Given the description of an element on the screen output the (x, y) to click on. 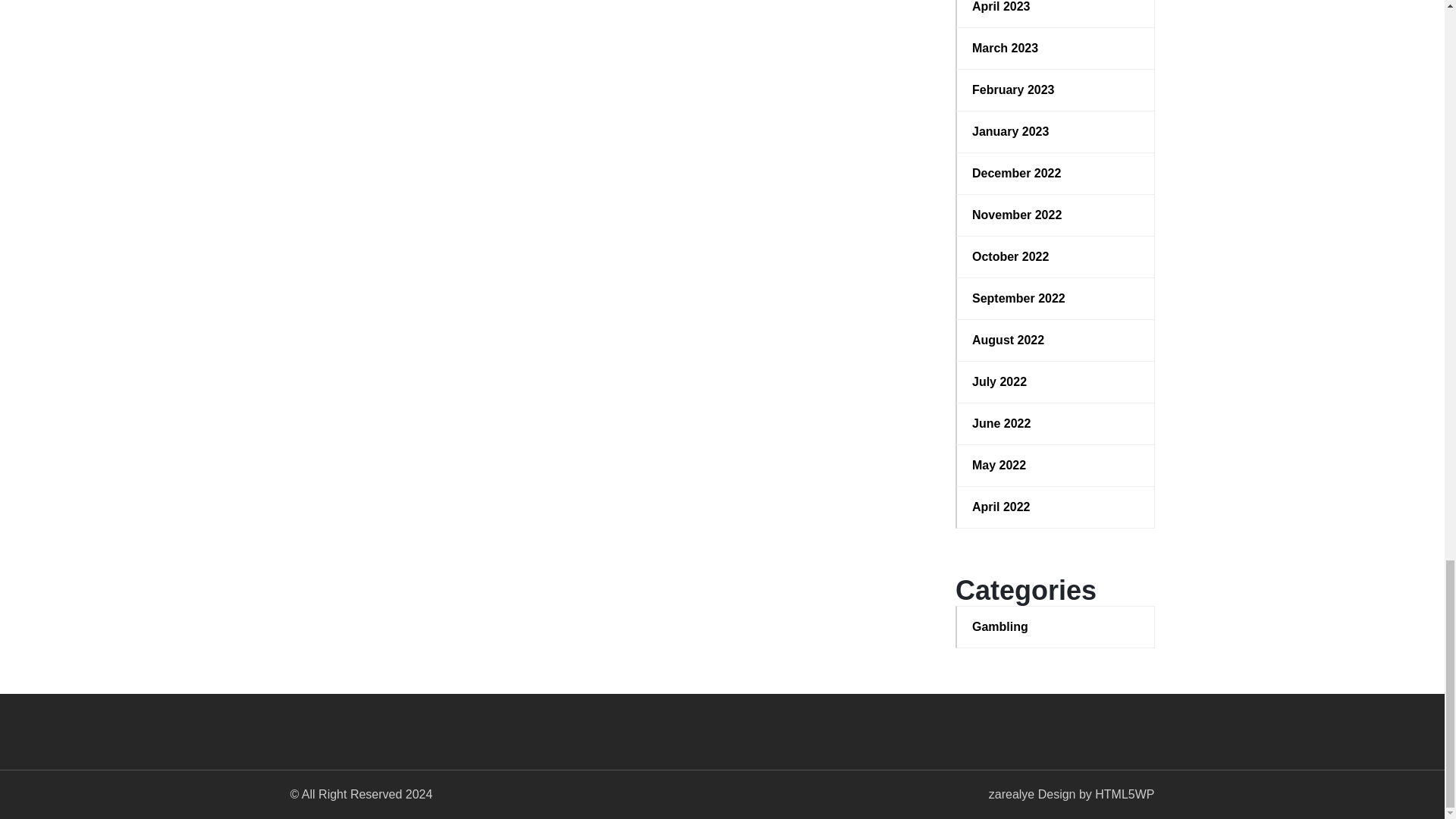
April 2023 (1055, 7)
January 2023 (1055, 131)
March 2023 (1055, 48)
December 2022 (1055, 173)
October 2022 (1055, 257)
November 2022 (1055, 215)
February 2023 (1055, 90)
